Given the description of an element on the screen output the (x, y) to click on. 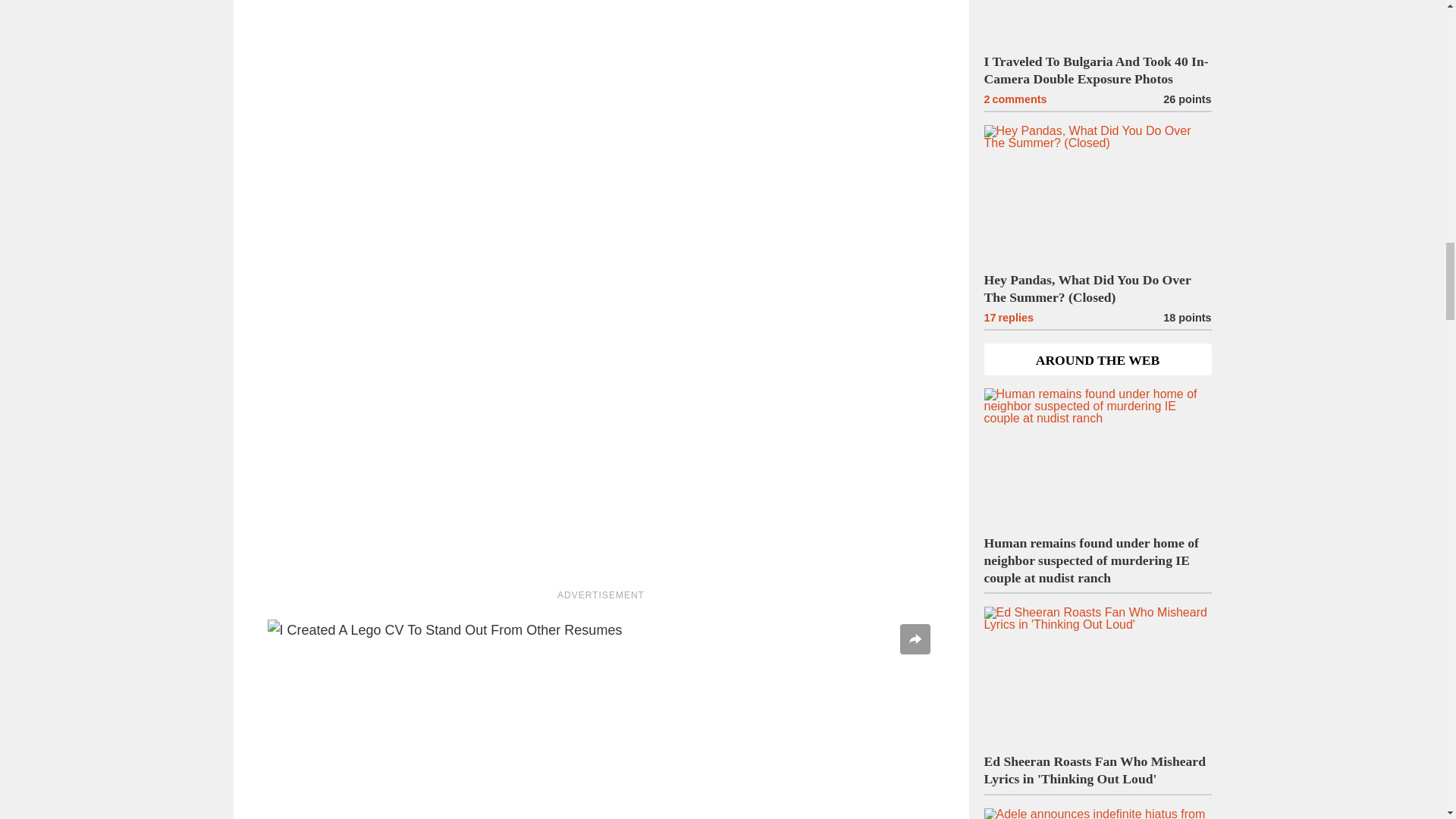
I Created A Lego CV To Stand Out From Other Resumes (600, 719)
Share icon (914, 639)
